Given the description of an element on the screen output the (x, y) to click on. 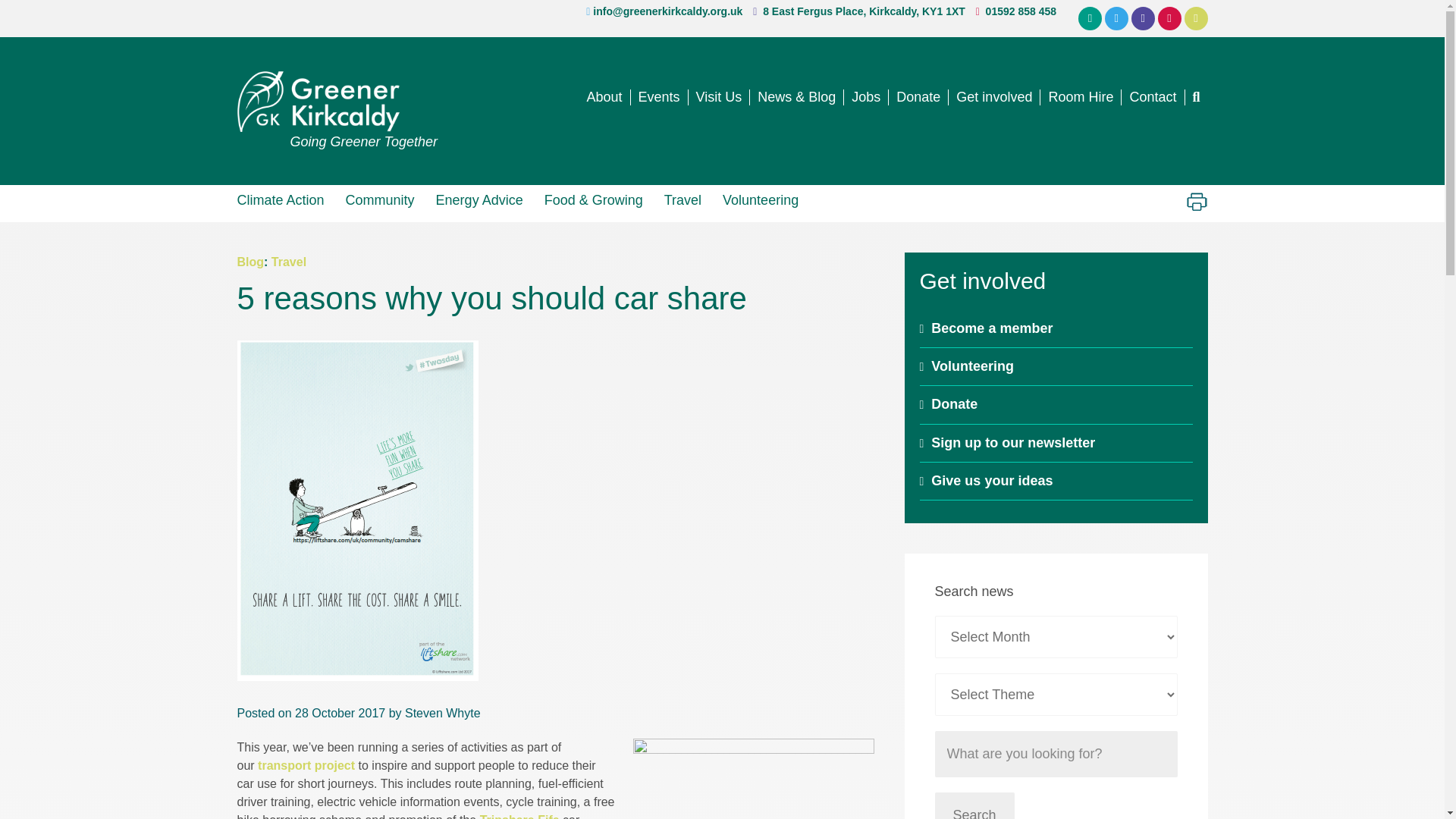
Room Hire (1081, 97)
Mail (1090, 18)
Facebook (1142, 18)
Blog (249, 261)
Volunteering (760, 199)
Jobs (866, 97)
Instagram (1168, 18)
Greener Kirkcaldy (335, 101)
Events (659, 97)
Climate Action (284, 199)
Twitter (1116, 18)
Community (379, 199)
01592 858 458 (1021, 10)
About (604, 97)
